Given the description of an element on the screen output the (x, y) to click on. 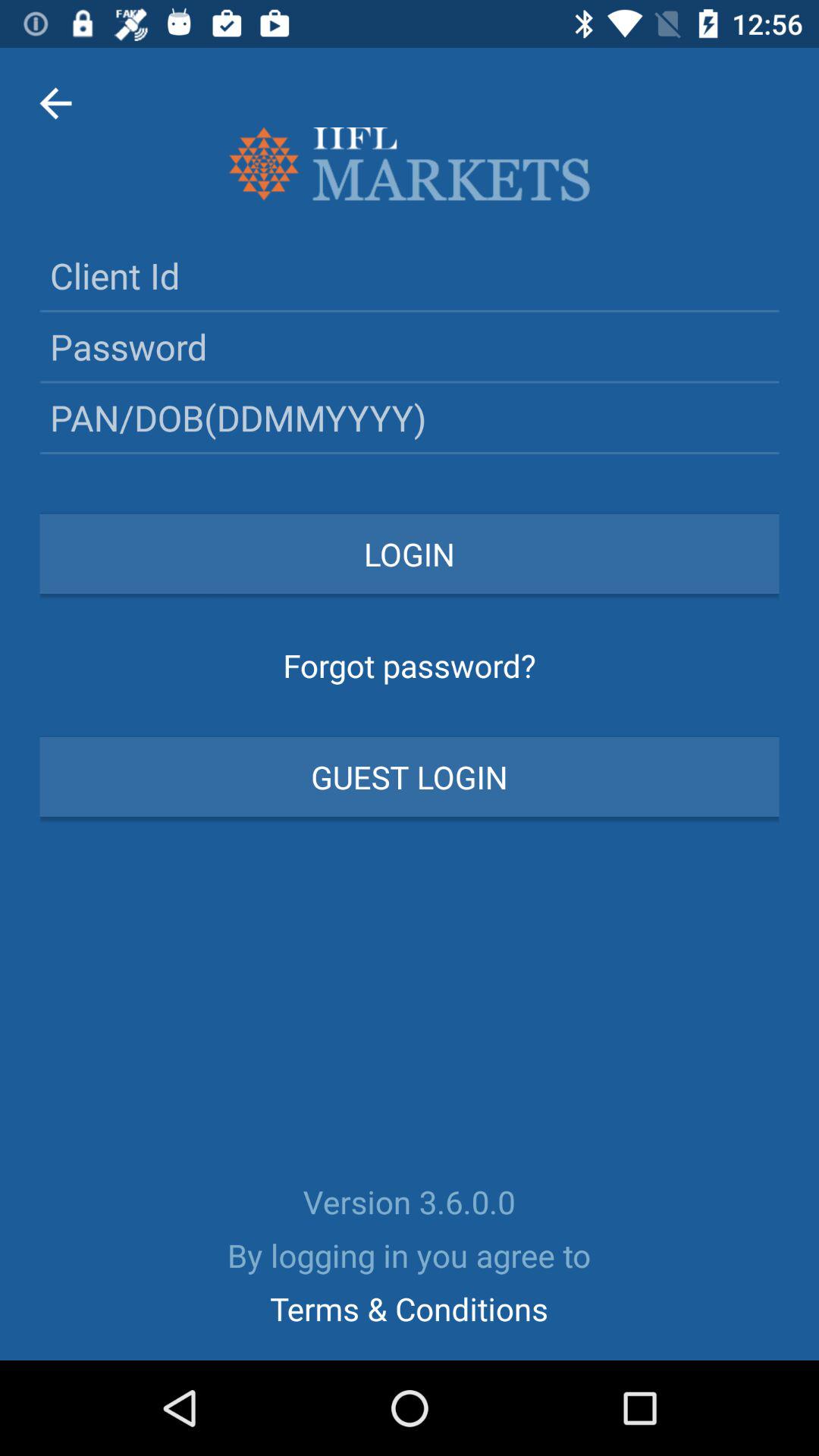
enter login password (409, 346)
